Given the description of an element on the screen output the (x, y) to click on. 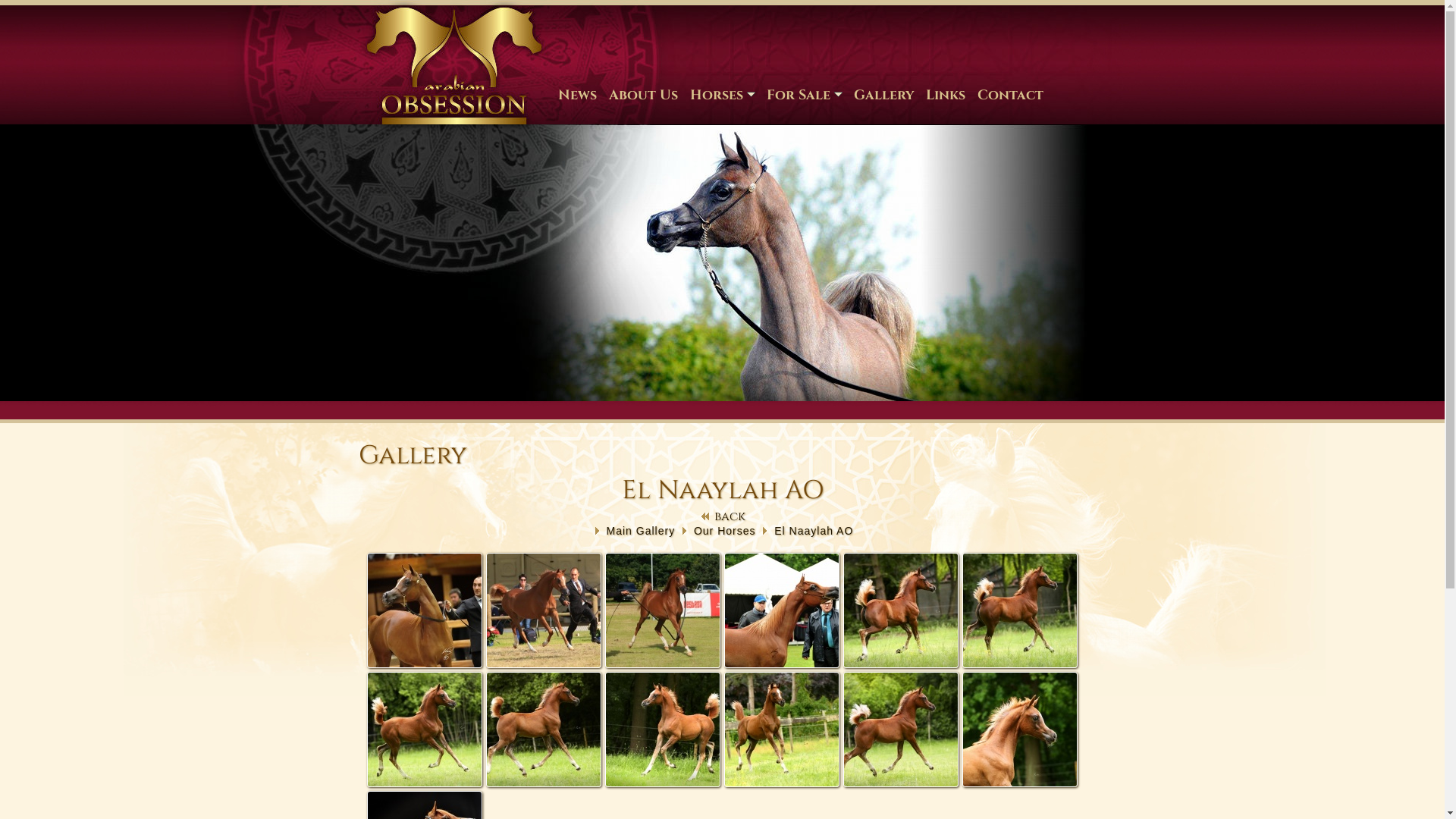
El Naaylah AO Element type: hover (900, 729)
El Naaylah AO Element type: hover (424, 610)
El Naaylah AO Element type: hover (900, 610)
El Naaylah AO Element type: hover (543, 610)
El Naaylah AO Element type: hover (1019, 610)
El Naaylah AO Element type: hover (662, 610)
About Us Element type: text (642, 94)
El Naaylah AO Element type: text (813, 530)
El Naaylah AO Element type: hover (424, 729)
Our Horses Element type: text (724, 530)
News Element type: text (577, 94)
Gallery Element type: text (883, 94)
back Element type: text (721, 516)
For Sale Element type: text (803, 94)
El Naaylah AO Element type: hover (662, 729)
El Naaylah AO Element type: hover (543, 729)
El Naaylah AO Element type: hover (781, 610)
Horses Element type: text (722, 94)
El Naaylah AO Element type: hover (781, 729)
Contact Element type: text (1009, 94)
Main Gallery Element type: text (640, 530)
El Naaylah AO Element type: hover (1019, 729)
Links Element type: text (944, 94)
